Given the description of an element on the screen output the (x, y) to click on. 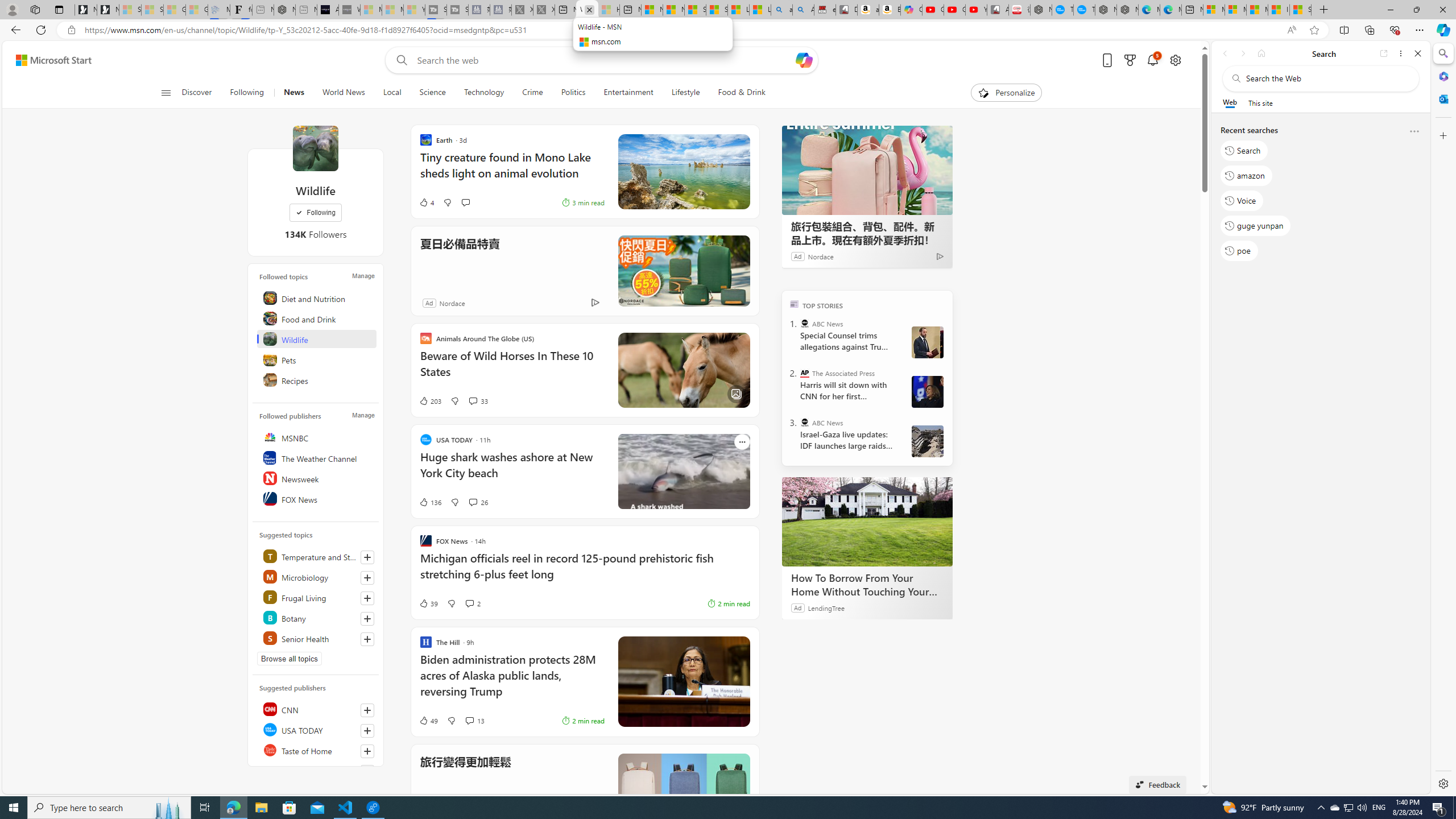
Microsoft account | Privacy (1235, 9)
View comments 26 Comment (472, 501)
Newsweek (317, 478)
TOP (794, 302)
FOX News (317, 498)
Browse all topics (289, 658)
Nordace - Nordace has arrived Hong Kong (1127, 9)
Politics (572, 92)
Manage (362, 415)
